Given the description of an element on the screen output the (x, y) to click on. 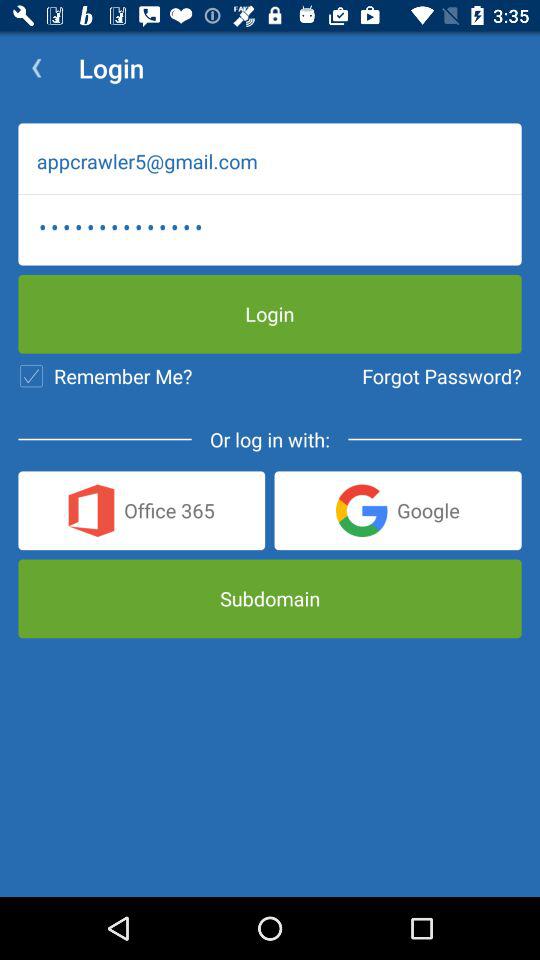
launch the icon to the right of the remember me? icon (441, 376)
